Given the description of an element on the screen output the (x, y) to click on. 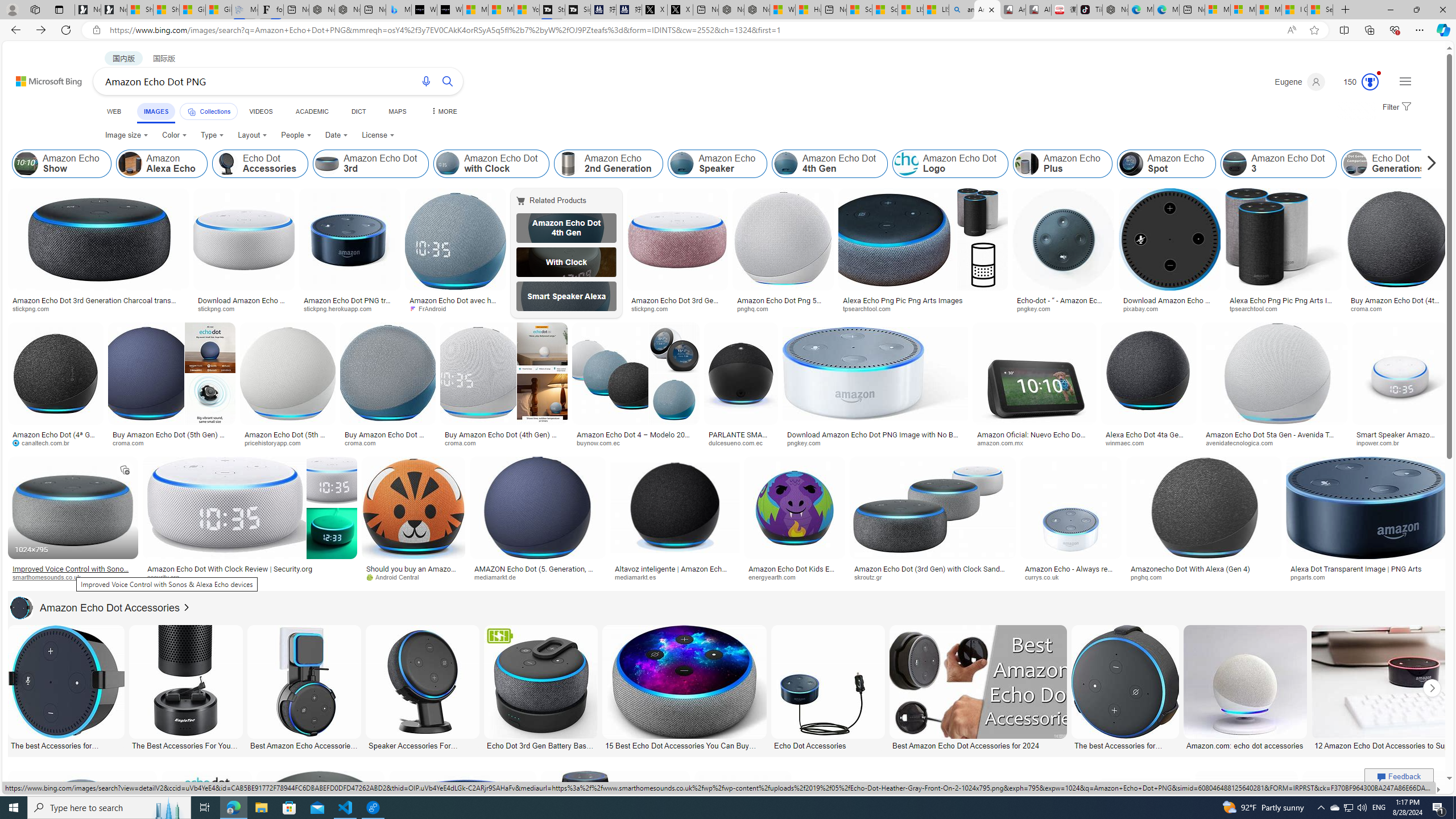
Amazon Echo Dot 4th Gen (565, 227)
What's the best AI voice generator? - voice.ai (449, 9)
dulcesueno.com.ec (741, 442)
Amazon Echo Dot with Clock (490, 163)
smarthomesounds.co.uk (50, 576)
Echo Dot Generations (1388, 163)
inpower.com.br (1381, 442)
Amazon Echo Dot With Clock Review | Security.org (230, 568)
